Given the description of an element on the screen output the (x, y) to click on. 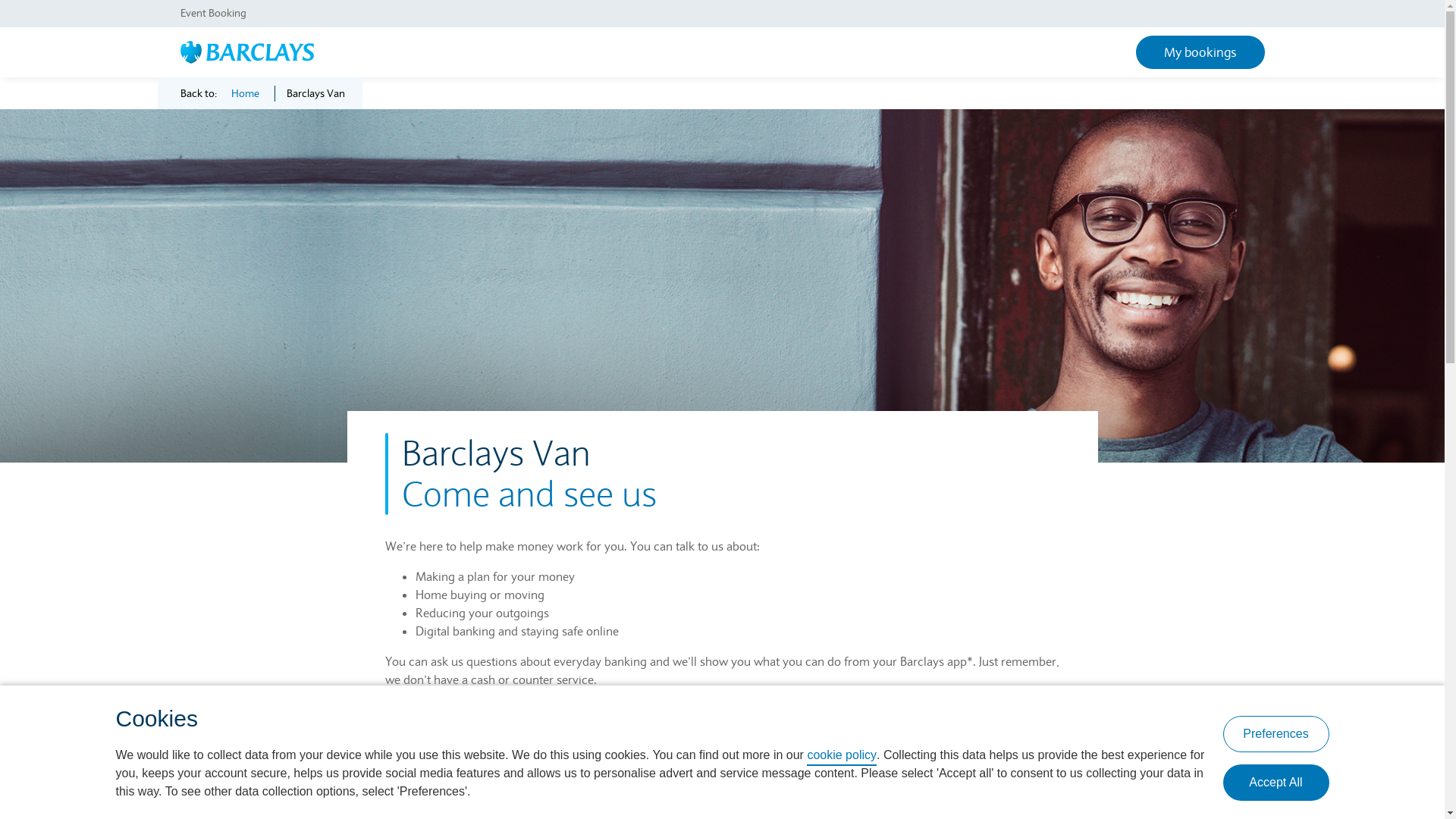
Barclays Logo Element type: hover (246, 50)
cookie policy Element type: text (841, 755)
Home Element type: text (244, 93)
Preferences Element type: text (1275, 733)
Accept All Element type: text (1275, 782)
My bookings Element type: text (1199, 52)
